Given the description of an element on the screen output the (x, y) to click on. 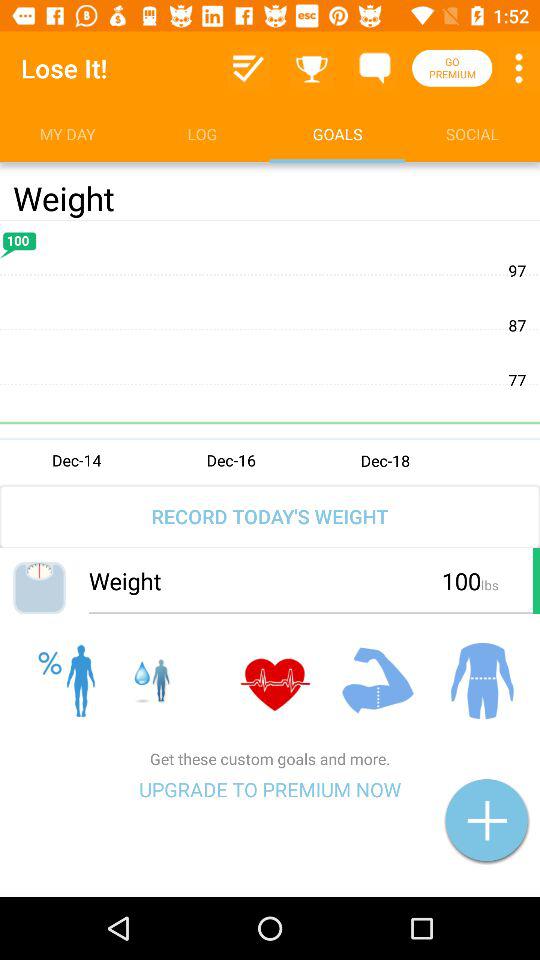
awards (311, 67)
